Given the description of an element on the screen output the (x, y) to click on. 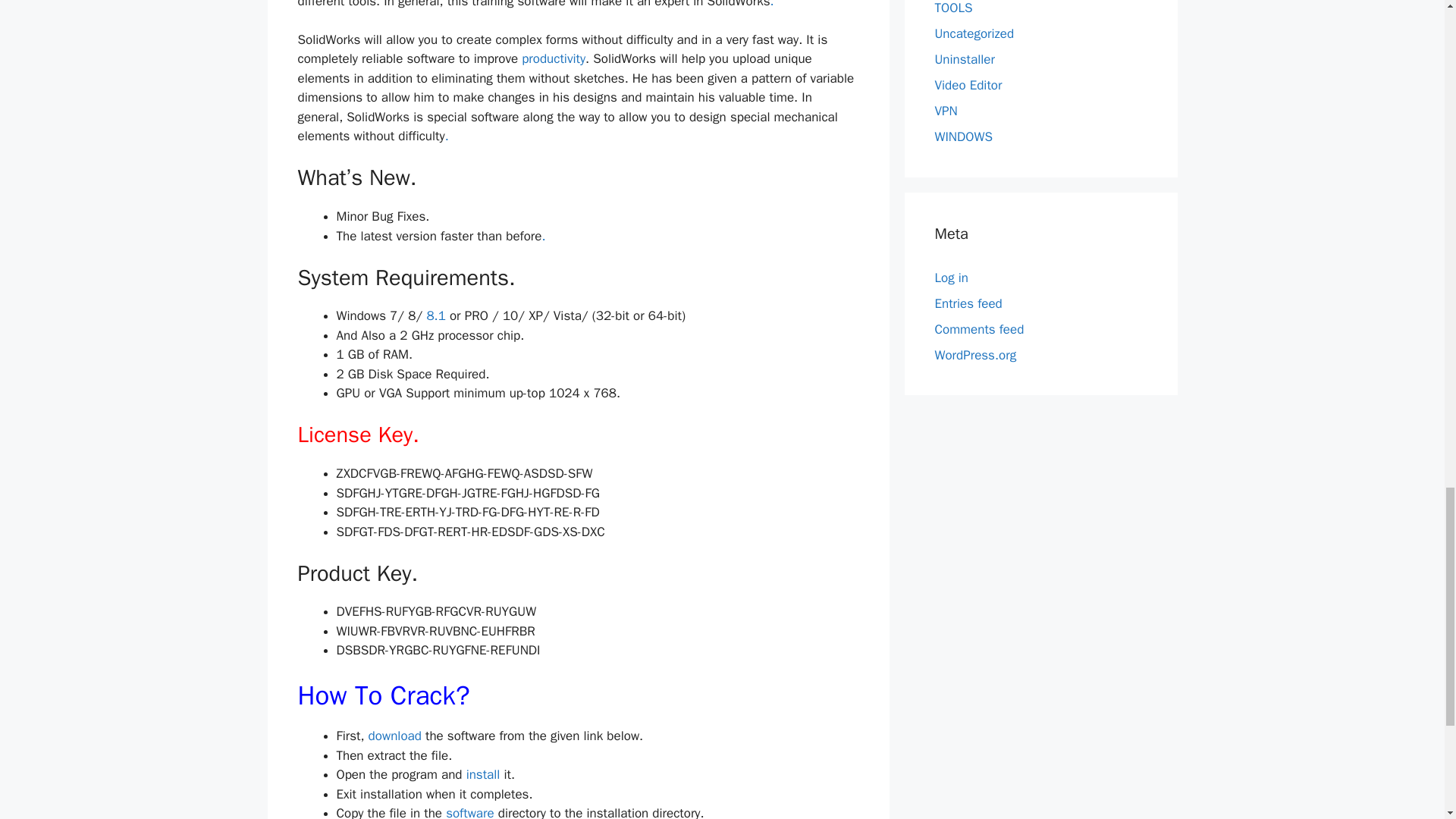
productivity (553, 58)
8.1 (435, 315)
software (471, 812)
install (482, 774)
download  (396, 735)
